Given the description of an element on the screen output the (x, y) to click on. 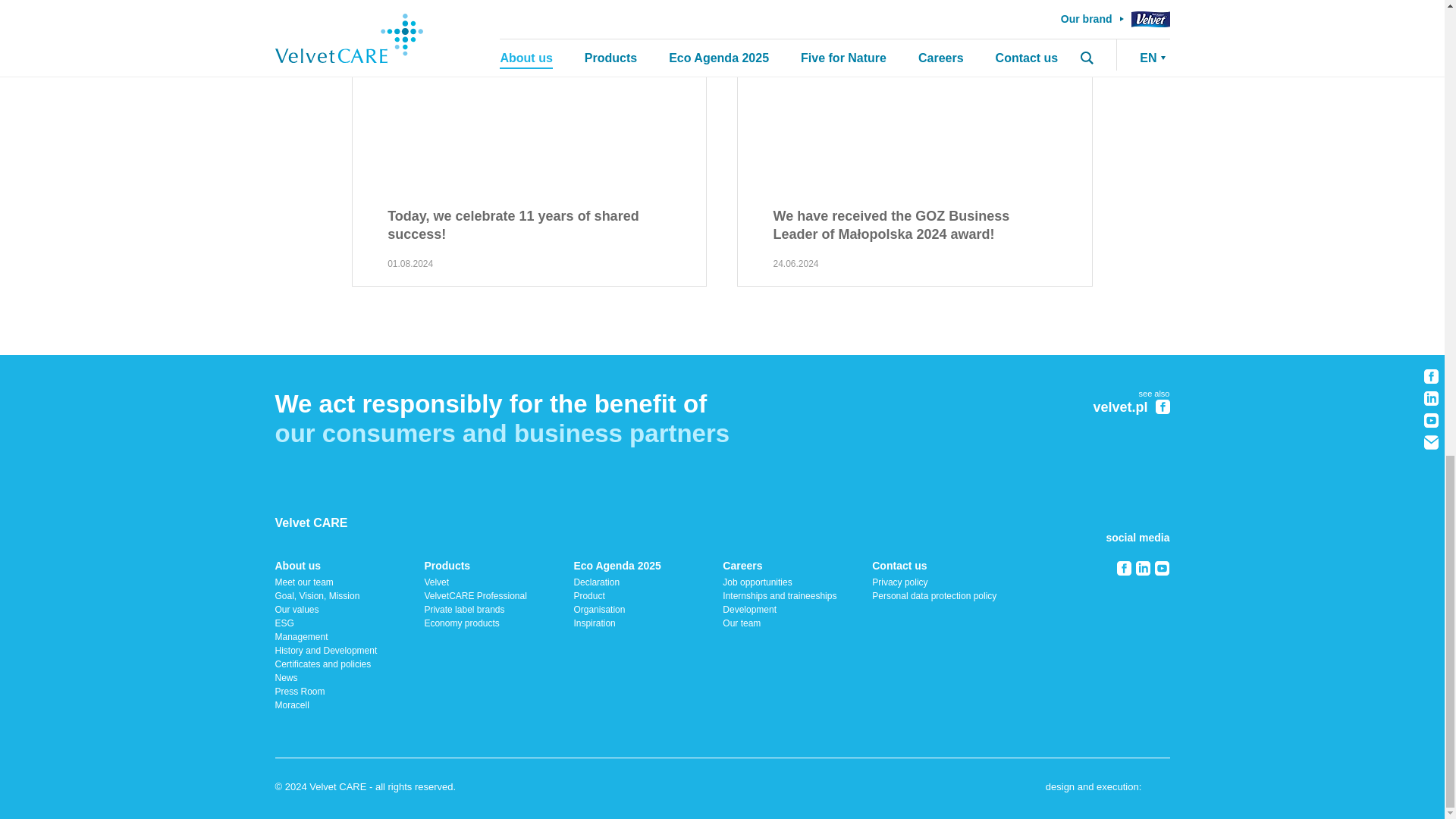
Facebook Velvet (1163, 406)
Linkedin (1142, 568)
agencja interaktywna zjednoczenie.com (1158, 788)
Facebook (1123, 568)
Youtube (1161, 568)
